Given the description of an element on the screen output the (x, y) to click on. 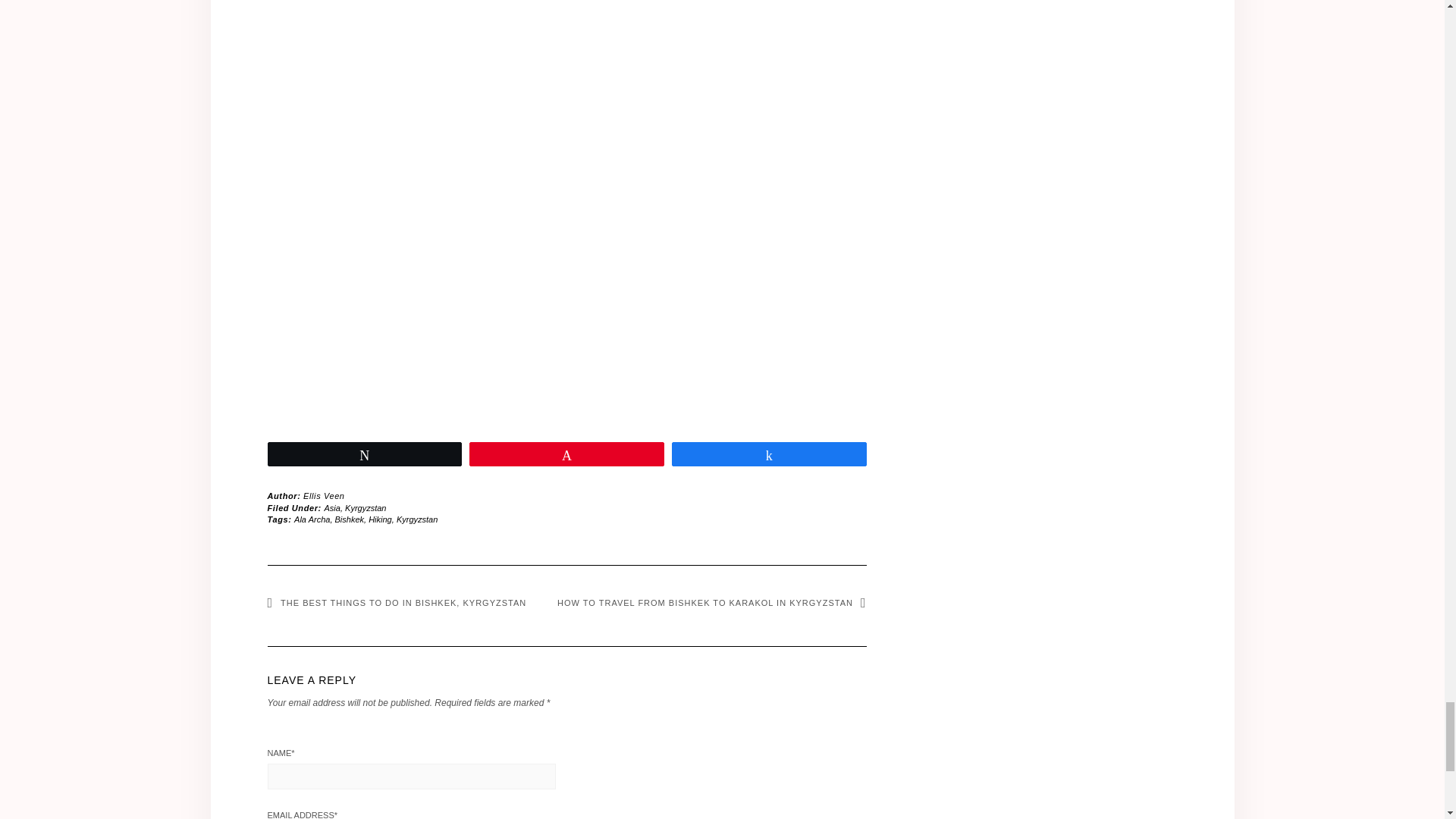
Posts by Ellis Veen (323, 495)
